Given the description of an element on the screen output the (x, y) to click on. 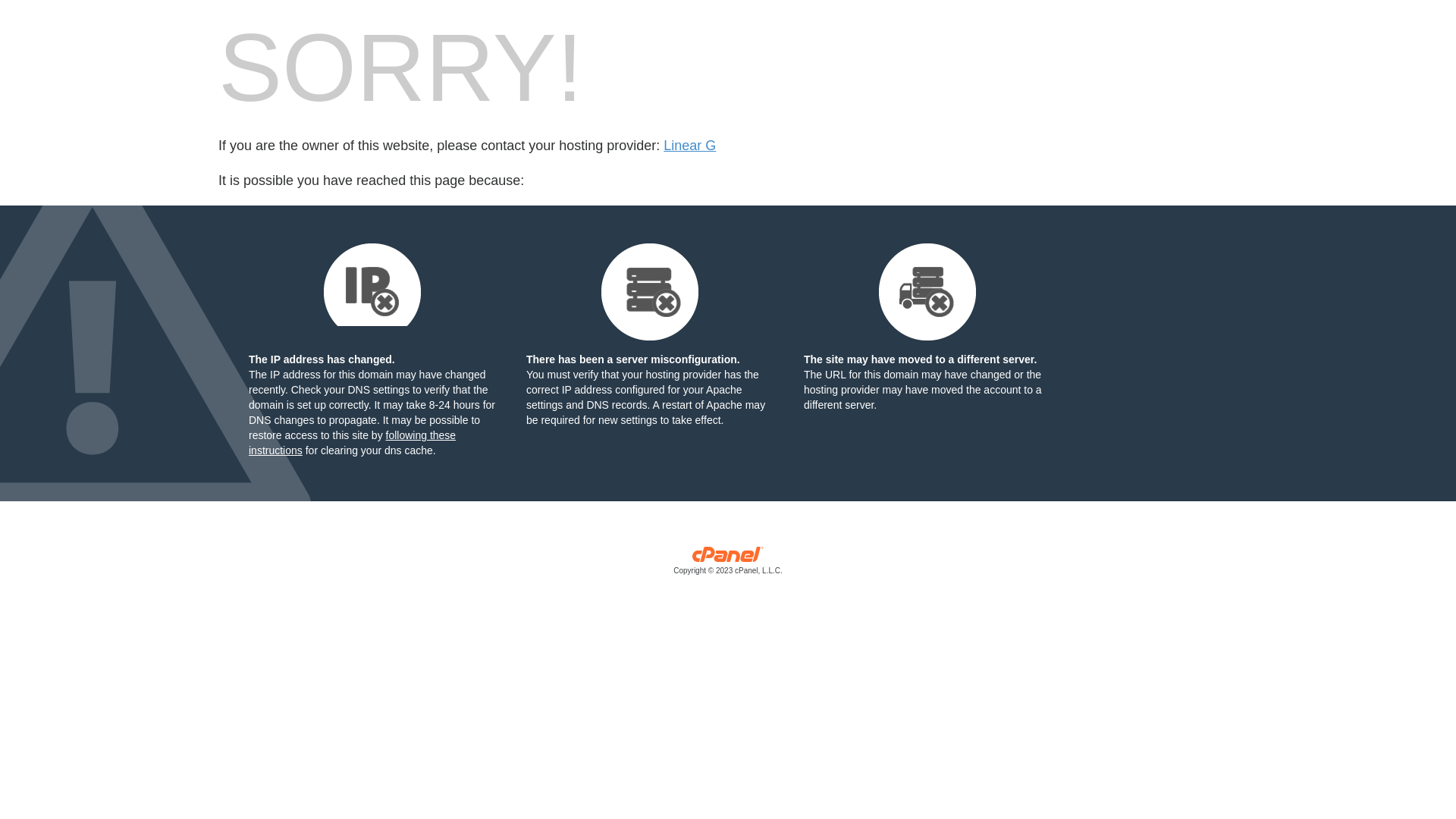
following these instructions Element type: text (351, 442)
Linear G Element type: text (689, 145)
